Given the description of an element on the screen output the (x, y) to click on. 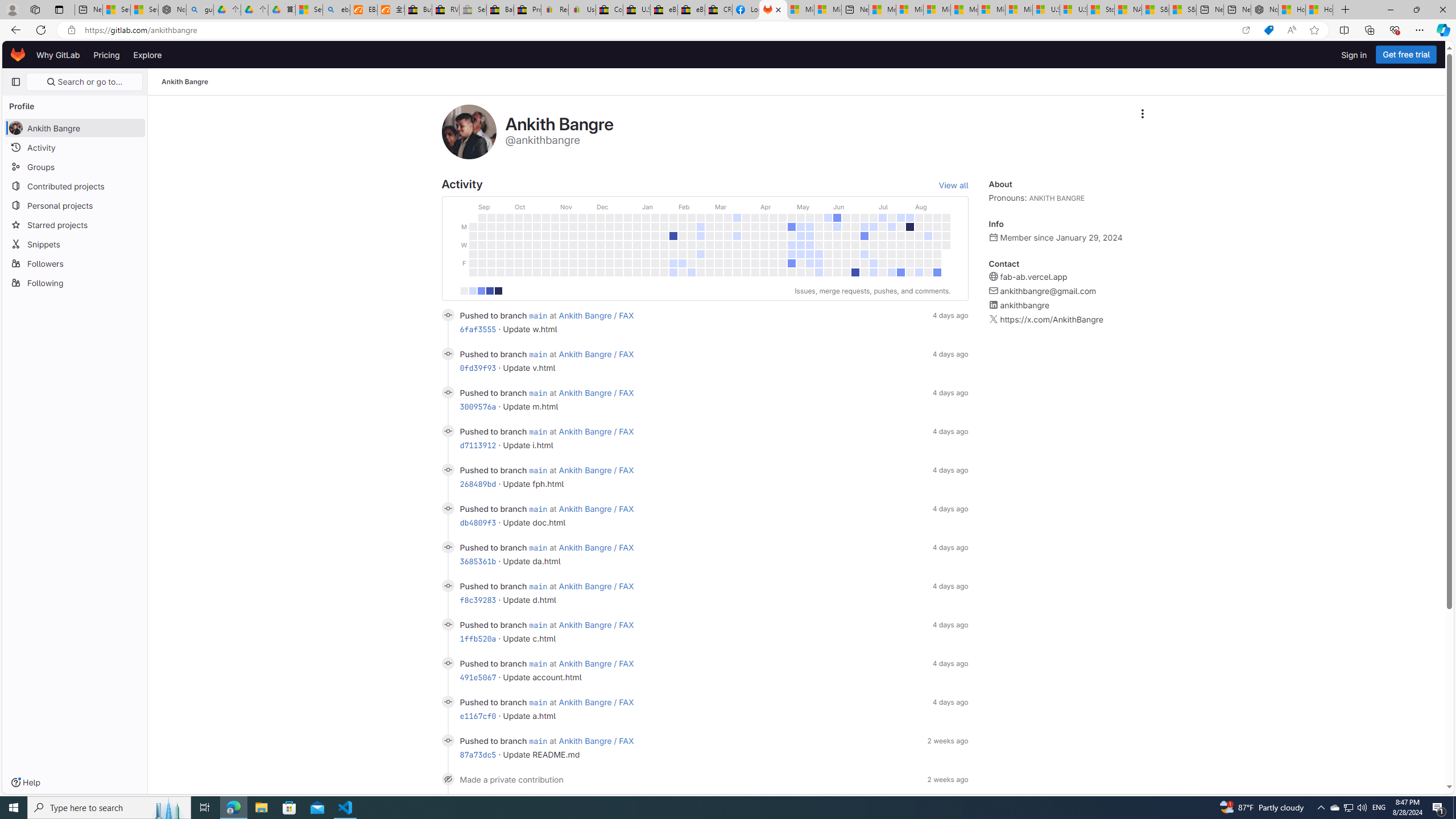
ankithbangre (1024, 305)
Groups (74, 166)
Homepage (17, 54)
